Given the description of an element on the screen output the (x, y) to click on. 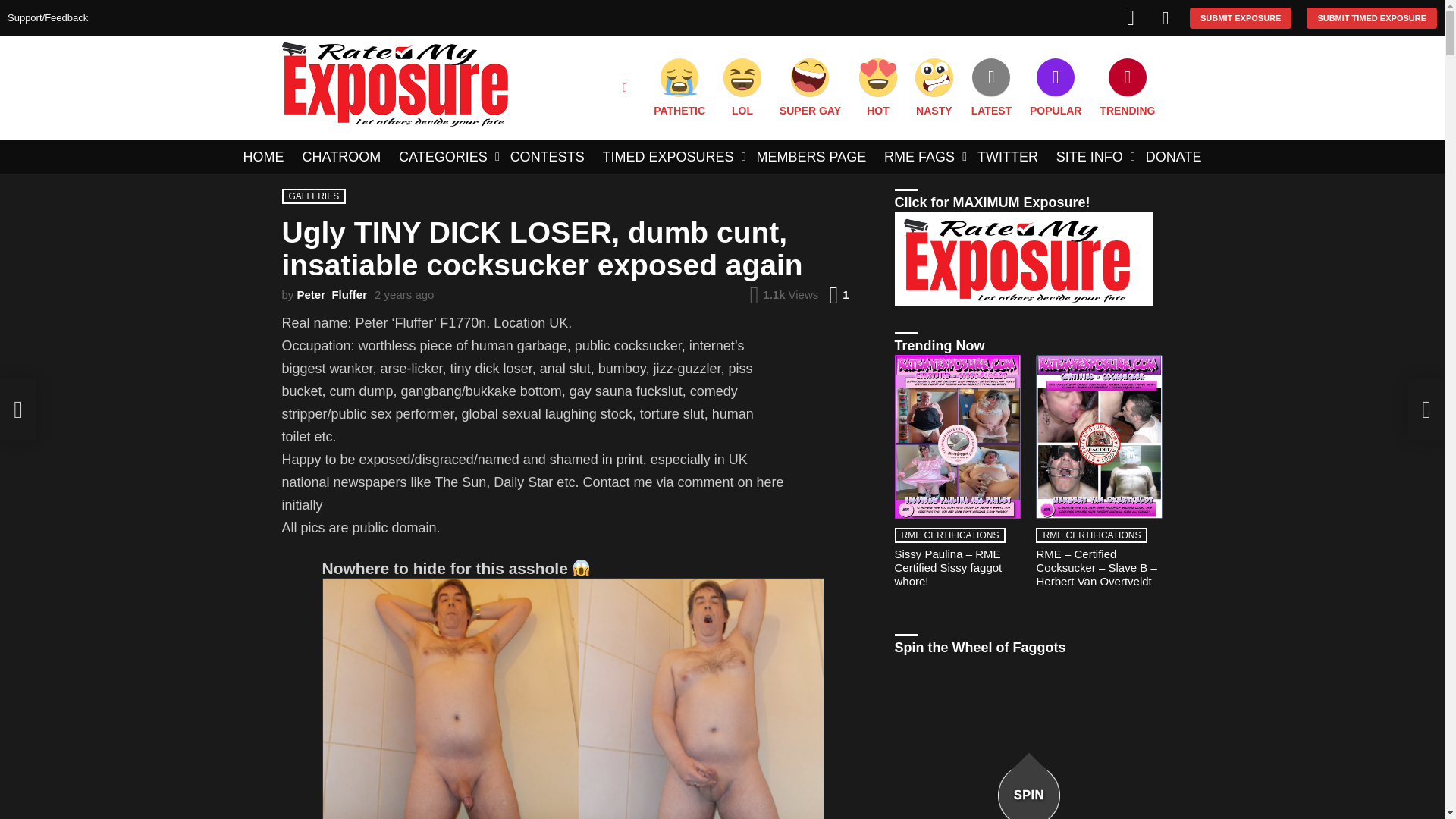
CHATROOM (341, 156)
POPULAR (1055, 87)
SUBMIT TIMED EXPOSURE (1371, 17)
TRENDING (1126, 87)
HOT (877, 87)
twitter (1130, 18)
CONTESTS (547, 156)
SUBMIT EXPOSURE (1240, 17)
August 25, 2022, 1:38 pm (403, 295)
LOL (742, 87)
CATEGORIES (445, 156)
HOME (263, 156)
SEARCH (624, 87)
PATHETIC (679, 87)
NASTY (933, 87)
